Given the description of an element on the screen output the (x, y) to click on. 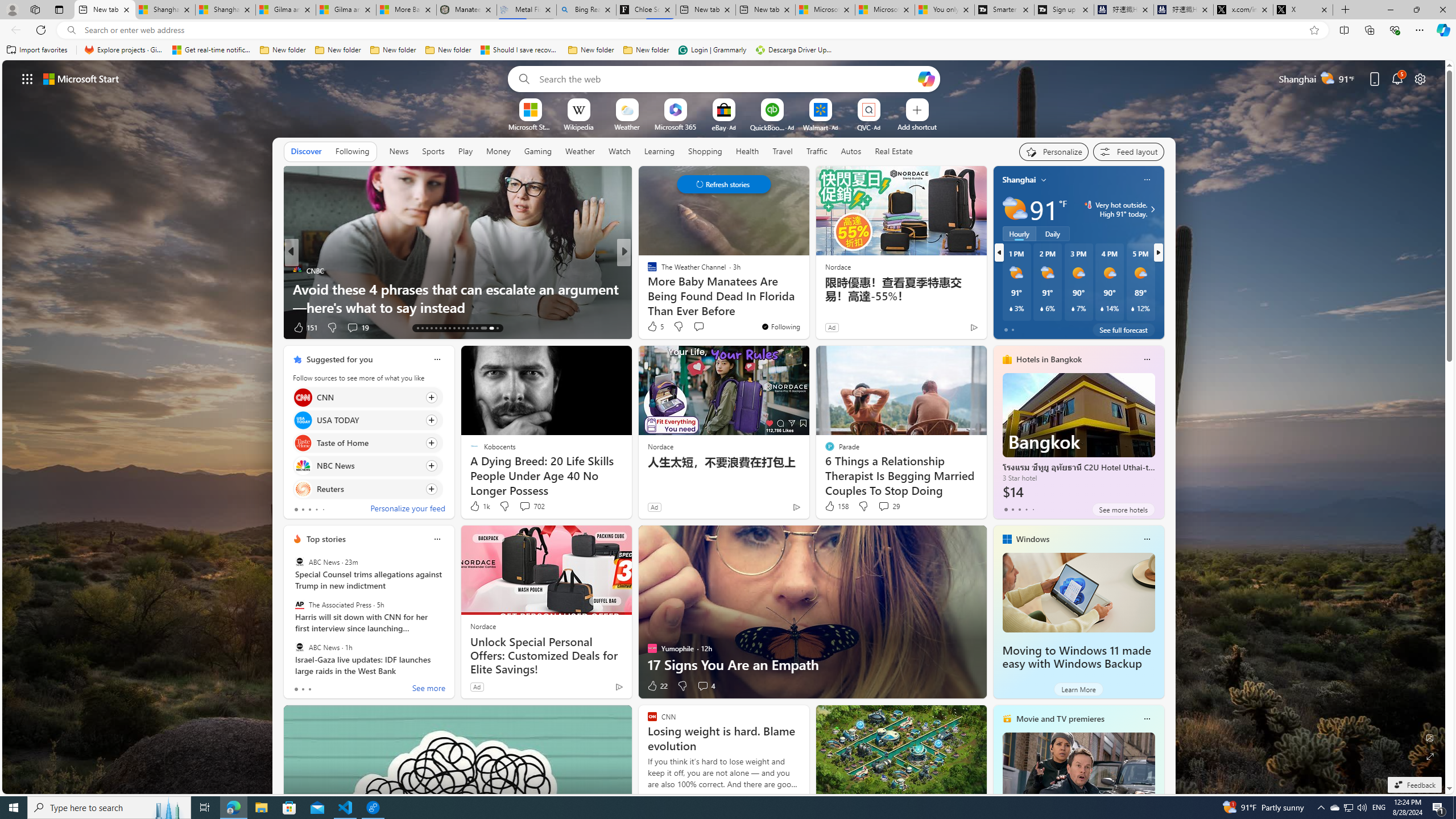
Search icon (70, 29)
Import favorites (36, 49)
AutomationID: tab-18 (440, 328)
Weather (579, 151)
Feed settings (1128, 151)
Hotels in Bangkok (1048, 359)
Traffic (816, 151)
Travel (782, 151)
Gilma and Hector both pose tropical trouble for Hawaii (346, 9)
Autos (851, 151)
Watch (619, 151)
previous (998, 252)
View comments 29 Comment (888, 505)
